Given the description of an element on the screen output the (x, y) to click on. 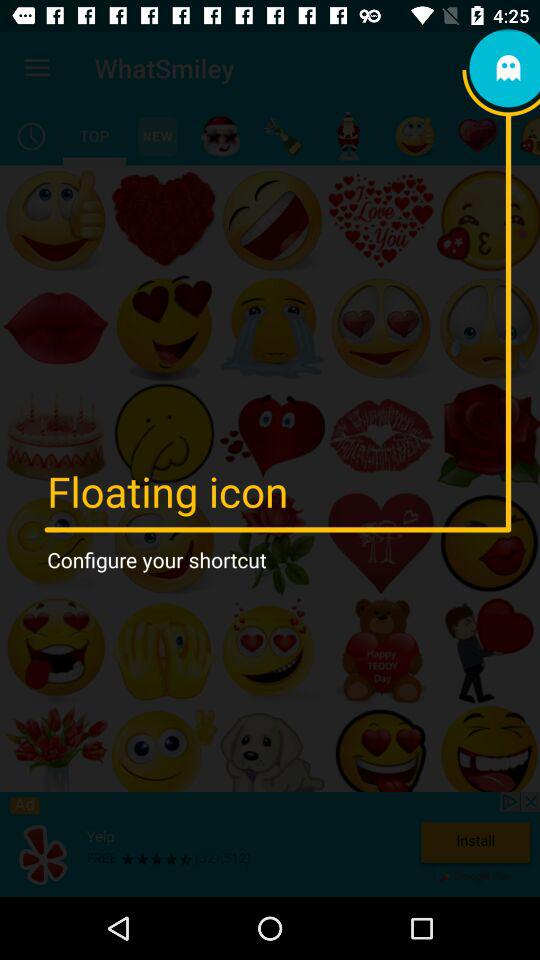
recently used emojis (31, 136)
